Given the description of an element on the screen output the (x, y) to click on. 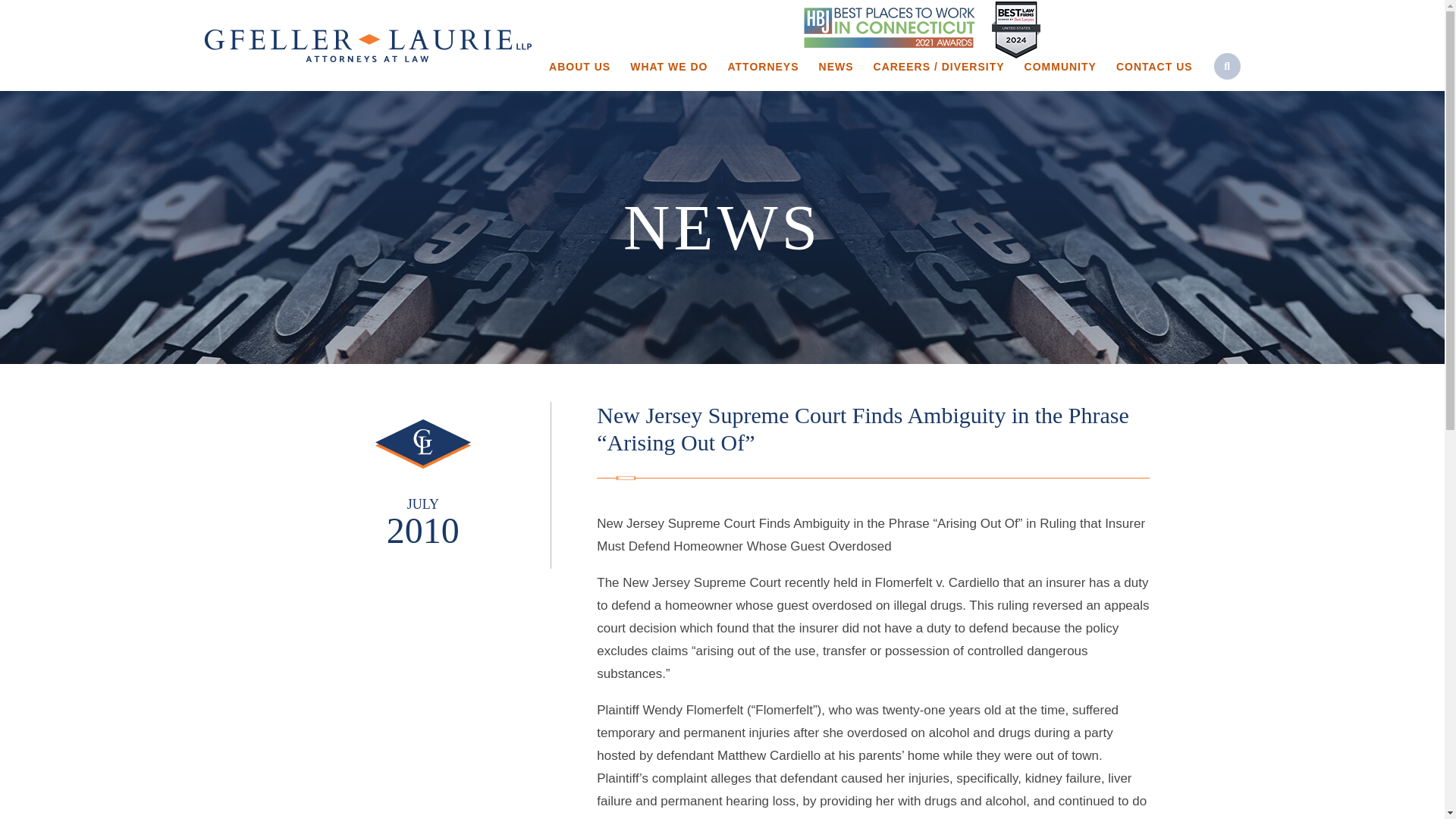
NEWS (836, 68)
WHAT WE DO (668, 68)
COMMUNITY (1060, 68)
OPEN SEARCH BAR (1227, 66)
CONTACT US (1154, 68)
ATTORNEYS (762, 68)
ABOUT US (579, 68)
